Given the description of an element on the screen output the (x, y) to click on. 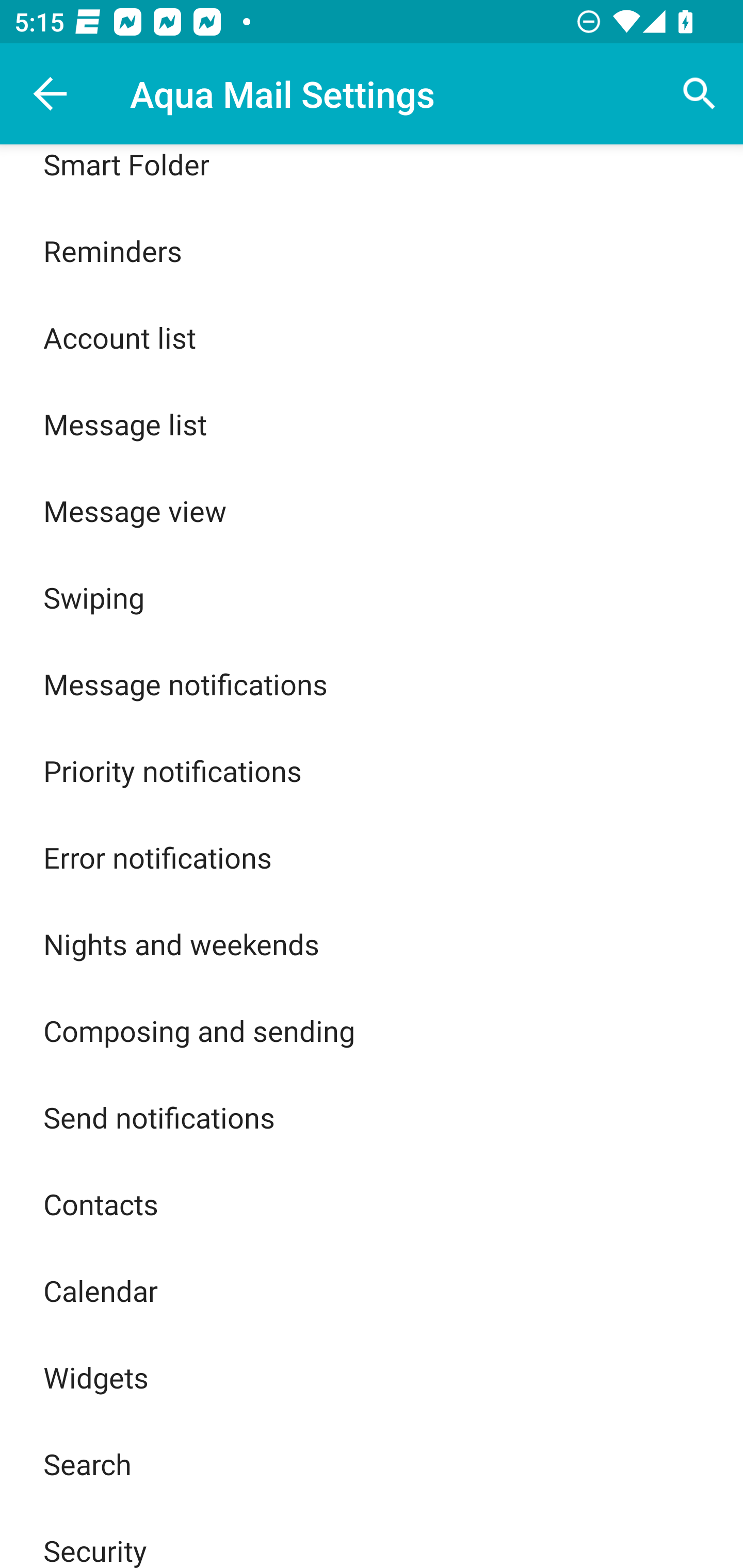
Navigate up (50, 93)
Search (699, 93)
Smart Folder (371, 175)
Reminders (371, 250)
Account list (371, 337)
Message list (371, 424)
Message view (371, 510)
Swiping (371, 597)
Message notifications (371, 684)
Priority notifications (371, 770)
Error notifications (371, 856)
Nights and weekends (371, 943)
Composing and sending (371, 1030)
Send notifications (371, 1117)
Contacts (371, 1203)
Calendar (371, 1290)
Widgets (371, 1377)
Search (371, 1463)
Security (371, 1537)
